Given the description of an element on the screen output the (x, y) to click on. 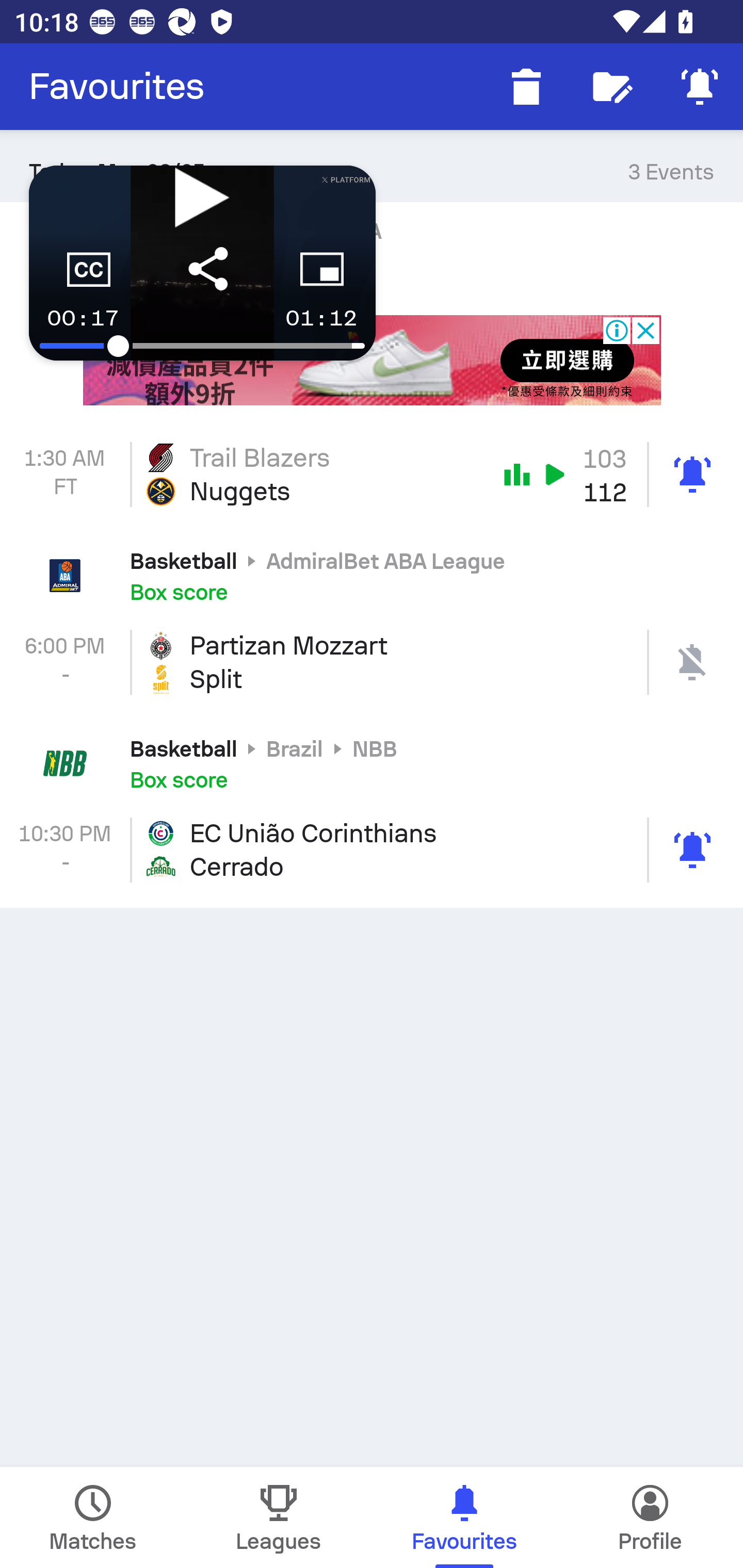
Favourites (116, 86)
Delete finished (525, 86)
Follow editor (612, 86)
Mute Notifications (699, 86)
1:30 AM FT Trail Blazers Nuggets 103 112 (371, 474)
Basketball AdmiralBet ABA League Box score (371, 575)
6:00 PM - Partizan Mozzart Split (371, 662)
Basketball Brazil NBB Box score (371, 762)
10:30 PM - EC União Corinthians Cerrado (371, 849)
Matches (92, 1517)
Leagues (278, 1517)
Profile (650, 1517)
